Given the description of an element on the screen output the (x, y) to click on. 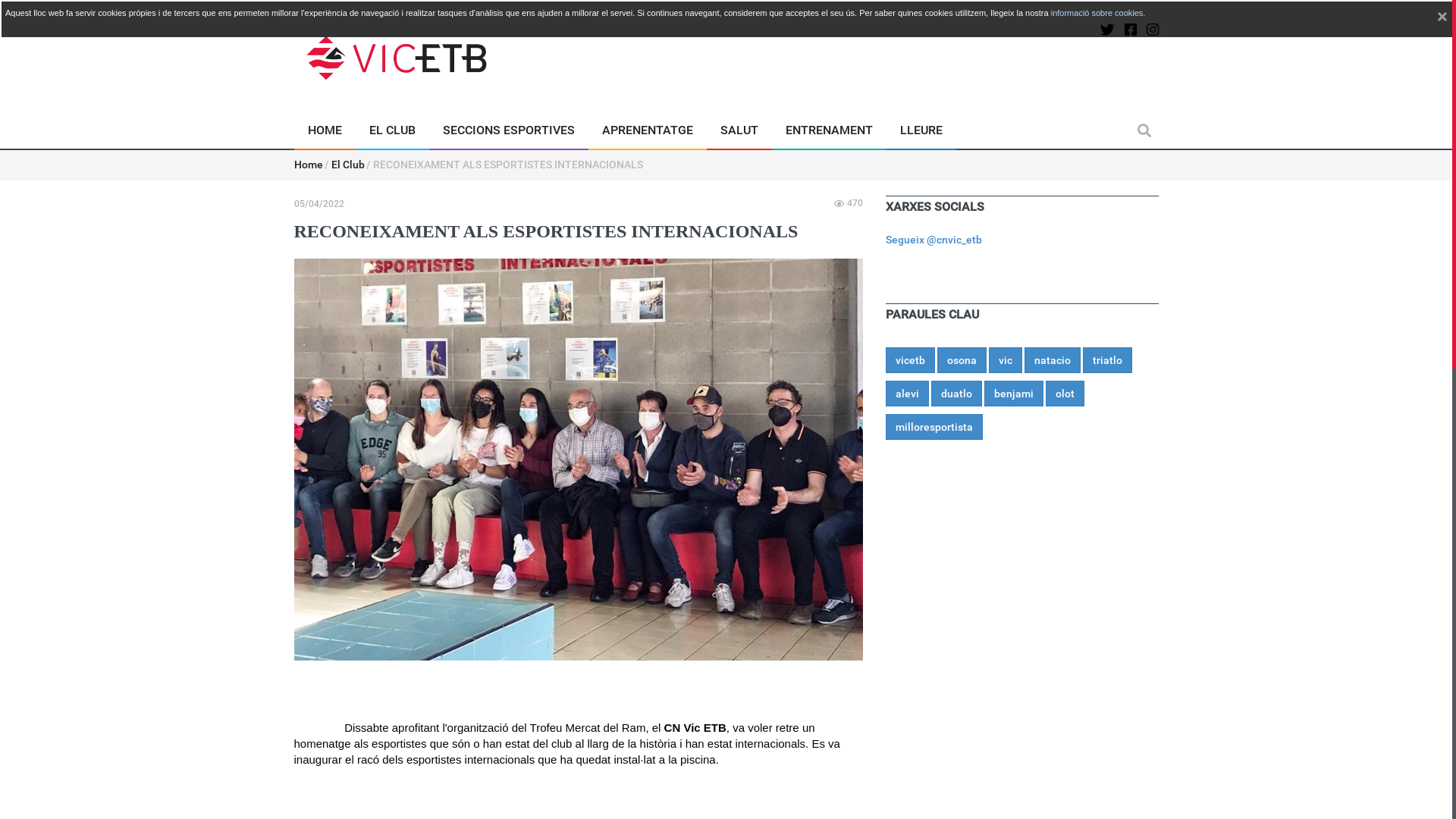
APRENENTATGE Element type: text (647, 130)
Tancar missatge Element type: hover (1442, 19)
HOME Element type: text (324, 130)
Segueix @cnvic_etb Element type: text (933, 239)
olot Element type: text (1063, 393)
EL CLUB Element type: text (391, 130)
vic Element type: text (1005, 360)
triatlo Element type: text (1107, 360)
Home Element type: text (309, 164)
duatlo Element type: text (956, 393)
LLEURE Element type: text (920, 130)
alevi Element type: text (906, 393)
natacio Element type: text (1051, 360)
El Club Element type: text (347, 164)
ENTRENAMENT Element type: text (828, 130)
osona Element type: text (961, 360)
SALUT Element type: text (738, 130)
milloresportista Element type: text (933, 426)
470 Element type: text (848, 202)
vicetb Element type: text (910, 360)
SECCIONS ESPORTIVES Element type: text (508, 130)
benjami Element type: text (1013, 393)
  Element type: text (1442, 19)
